Given the description of an element on the screen output the (x, y) to click on. 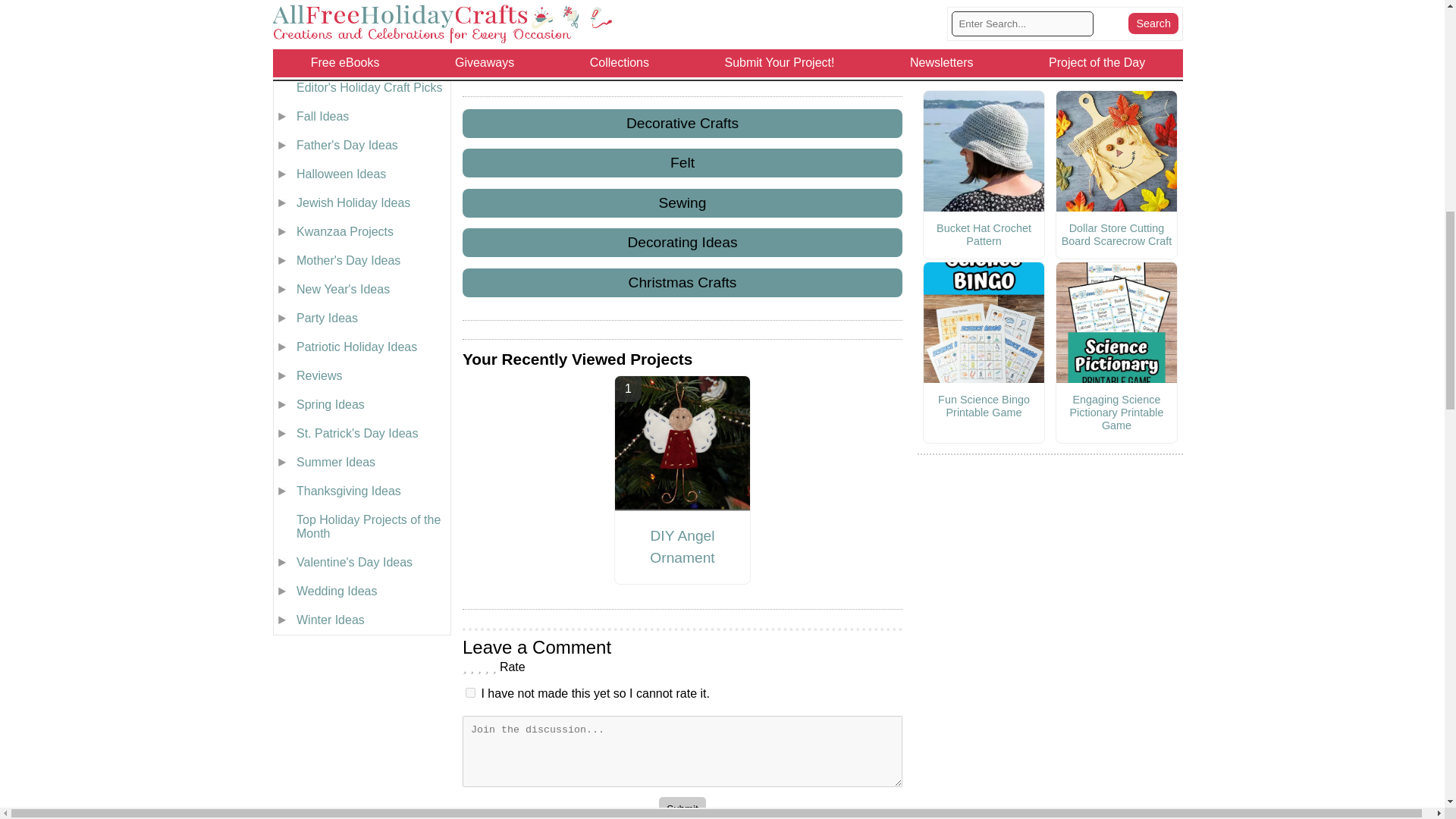
1 (470, 692)
Submit (681, 807)
